Given the description of an element on the screen output the (x, y) to click on. 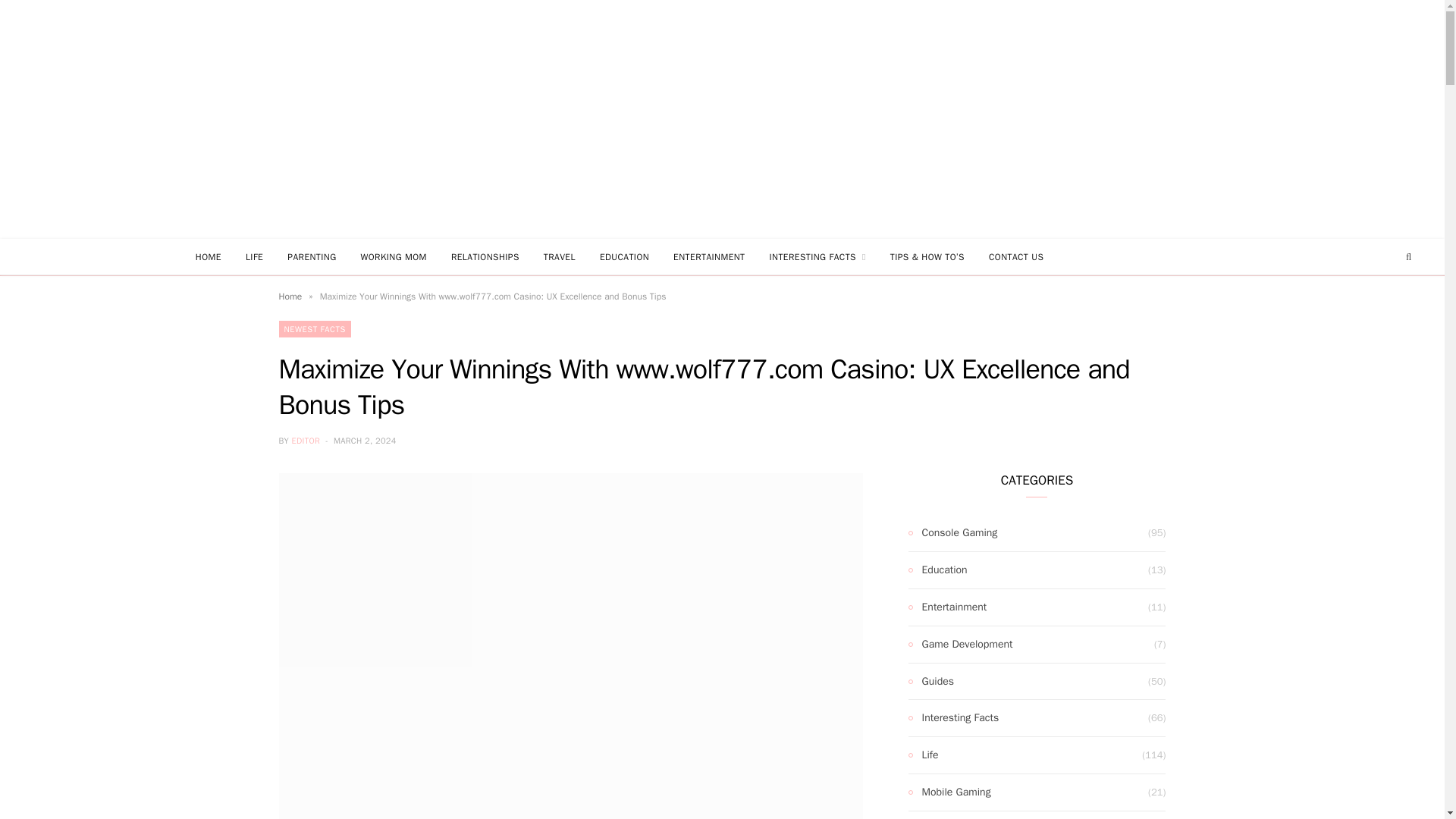
WORKING MOM (394, 257)
Not In The Kitchen Anymore (722, 119)
EDITOR (306, 439)
HOME (207, 257)
Guides (931, 681)
Entertainment (947, 607)
LIFE (253, 257)
Life (923, 755)
Interesting Facts (953, 718)
Home (290, 296)
